Given the description of an element on the screen output the (x, y) to click on. 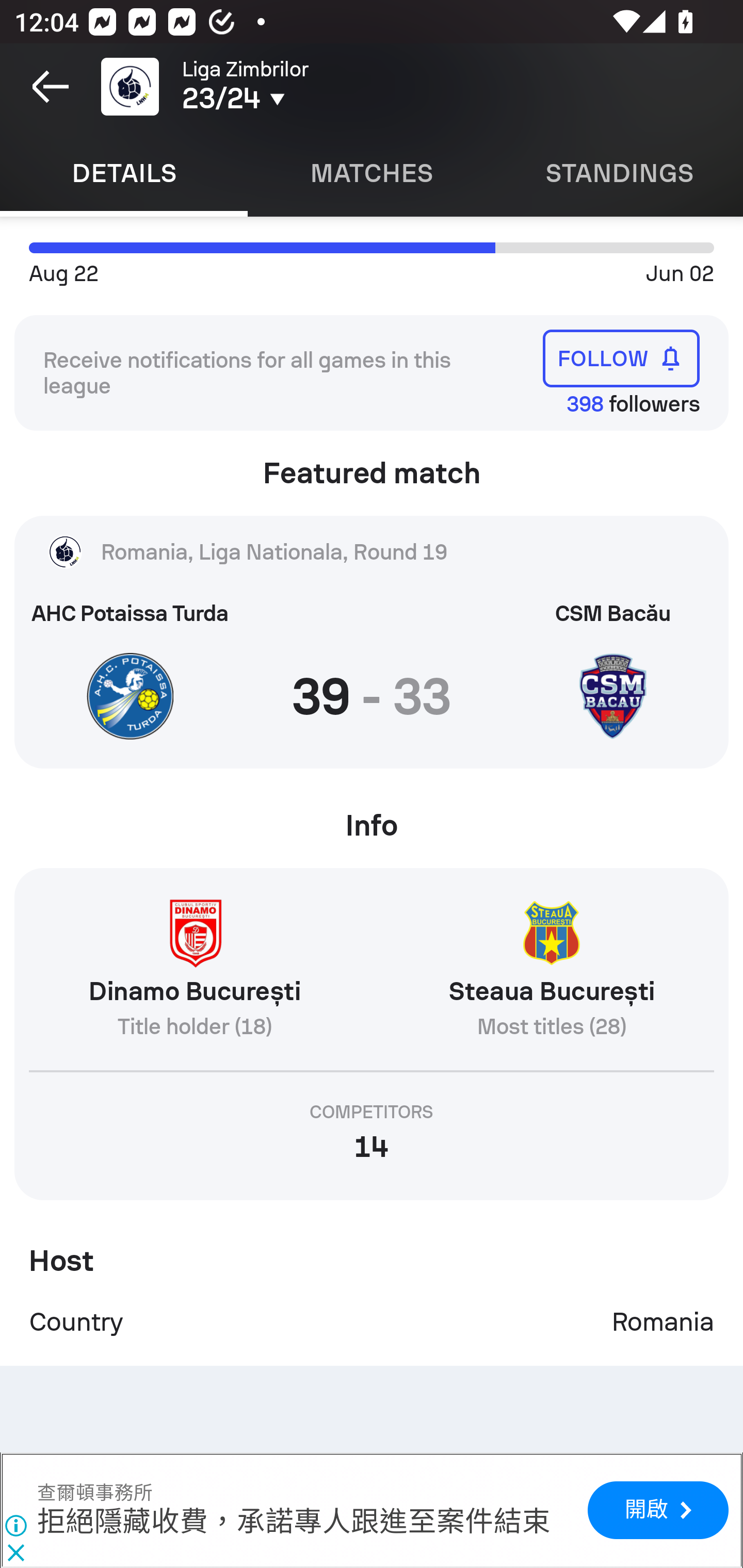
Navigate up (50, 86)
23/24 (300, 98)
Matches MATCHES (371, 173)
Standings STANDINGS (619, 173)
FOLLOW (621, 358)
Dinamo București Title holder (18) (194, 976)
Steaua București Most titles (28) (551, 976)
查爾頓事務所 (94, 1493)
開啟 (657, 1511)
拒絕隱藏收費，承諾專人跟進至案件結束 (293, 1523)
